Given the description of an element on the screen output the (x, y) to click on. 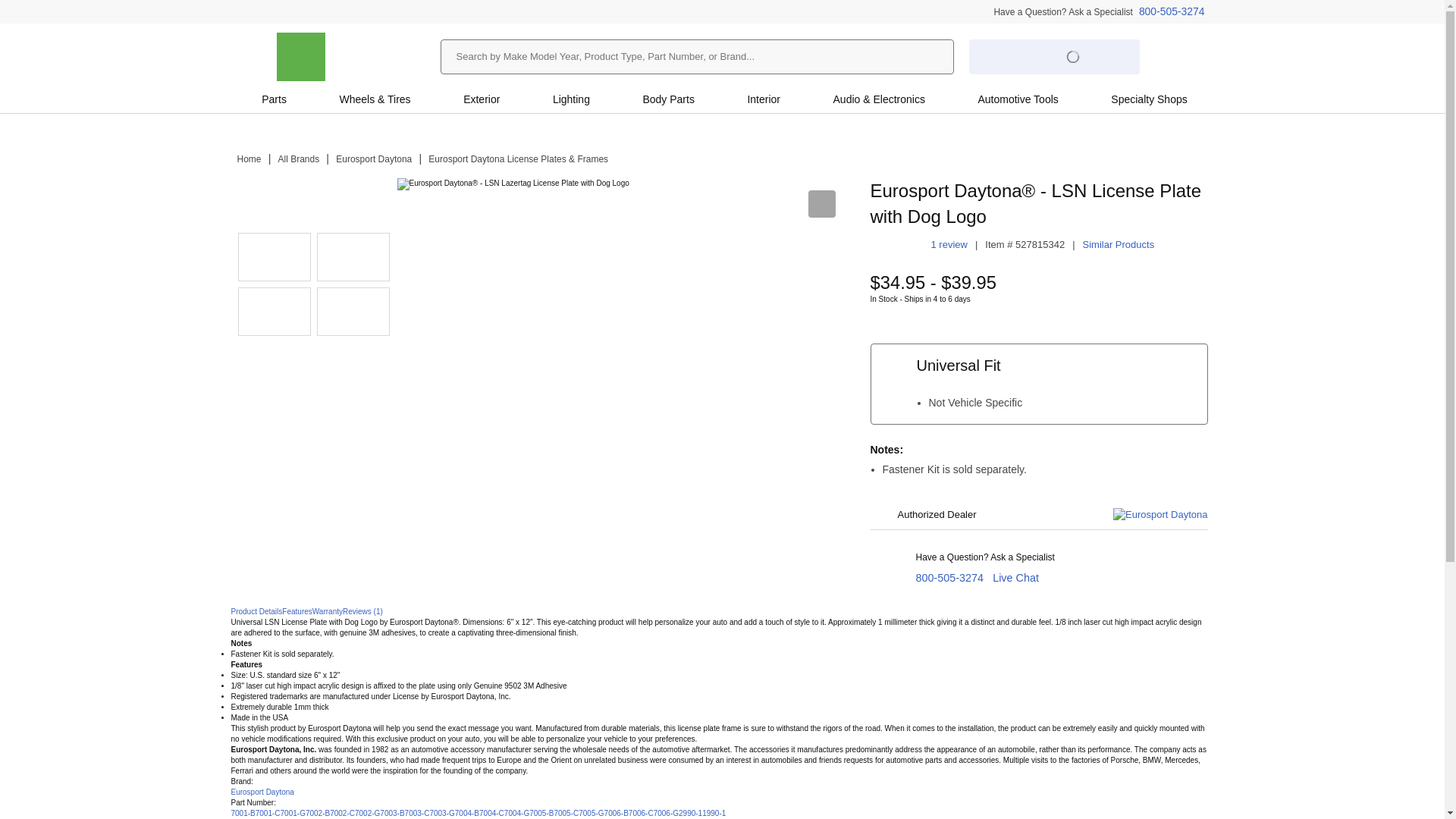
Product Details (256, 611)
Warranty (327, 611)
Product Details (256, 611)
Parts (273, 99)
Eurosport Daytona (374, 158)
Interior (763, 99)
7001-G (293, 813)
Exterior (480, 99)
Eurosport Daytona Authorized Dealer (353, 311)
Features (296, 611)
1 review (949, 244)
1 review (949, 244)
Body Parts (667, 99)
7003-C (416, 813)
Warranty (327, 611)
